Given the description of an element on the screen output the (x, y) to click on. 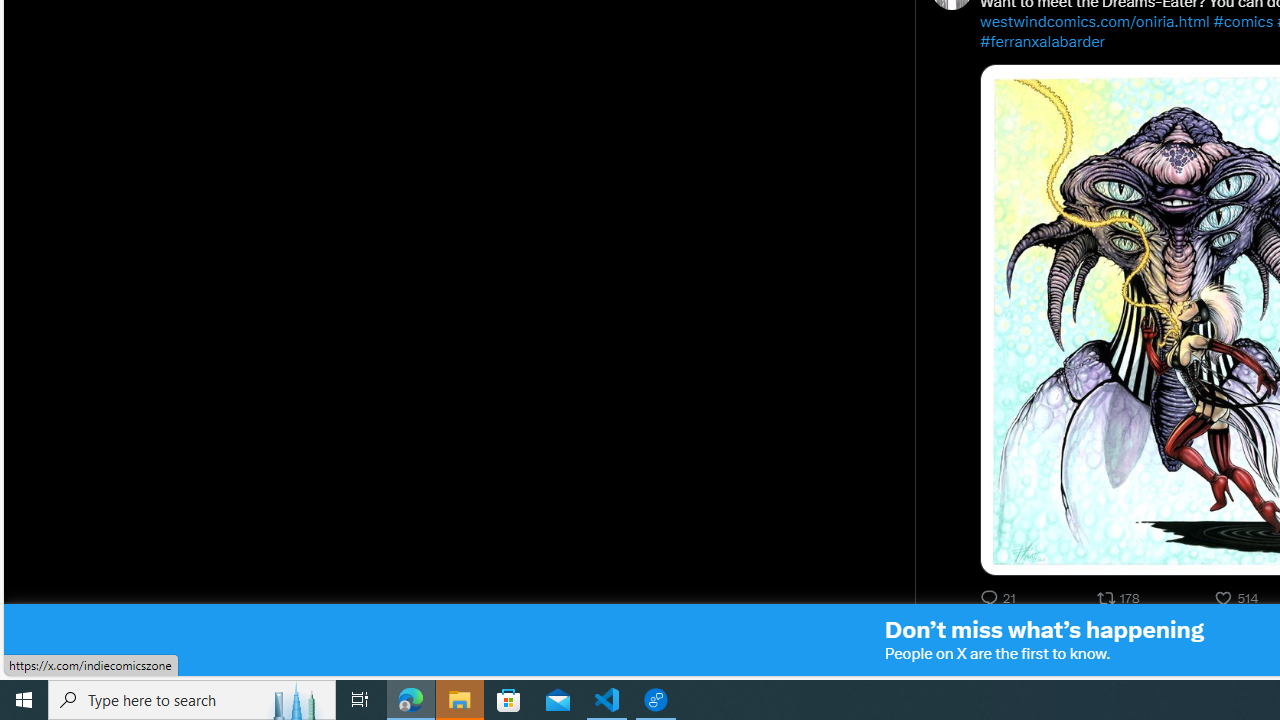
21 Replies. Reply (1000, 598)
514 Likes. Like (1238, 598)
178 reposts. Repost (1120, 598)
@westwindcomics (1125, 642)
West Wind (1019, 642)
Apr 12 (1223, 642)
#comics (1243, 21)
westwindcomics.com/oniria.html (1094, 21)
#ferranxalabarder (1042, 42)
